Given the description of an element on the screen output the (x, y) to click on. 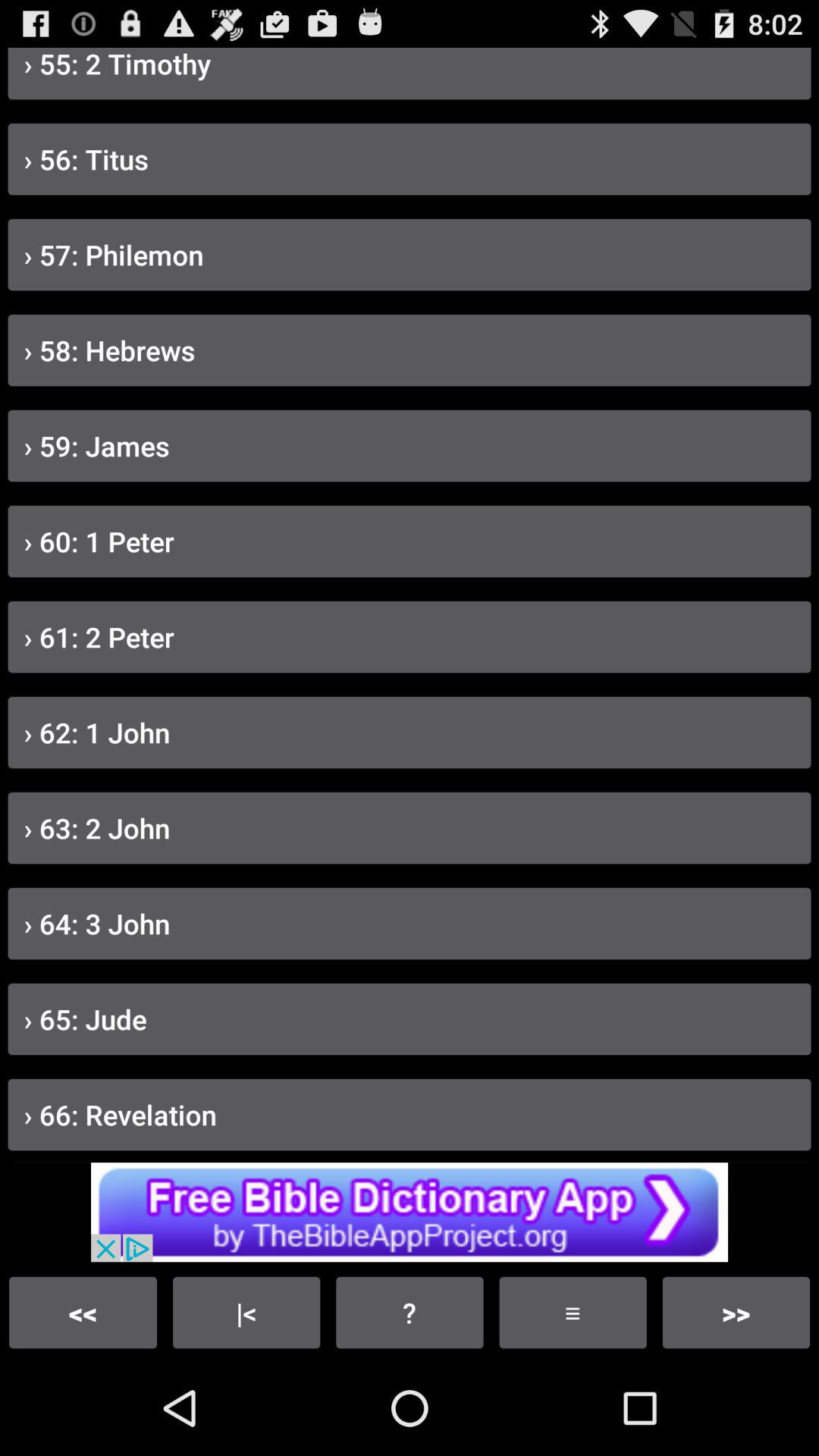
know about the advertisement (409, 1212)
